Given the description of an element on the screen output the (x, y) to click on. 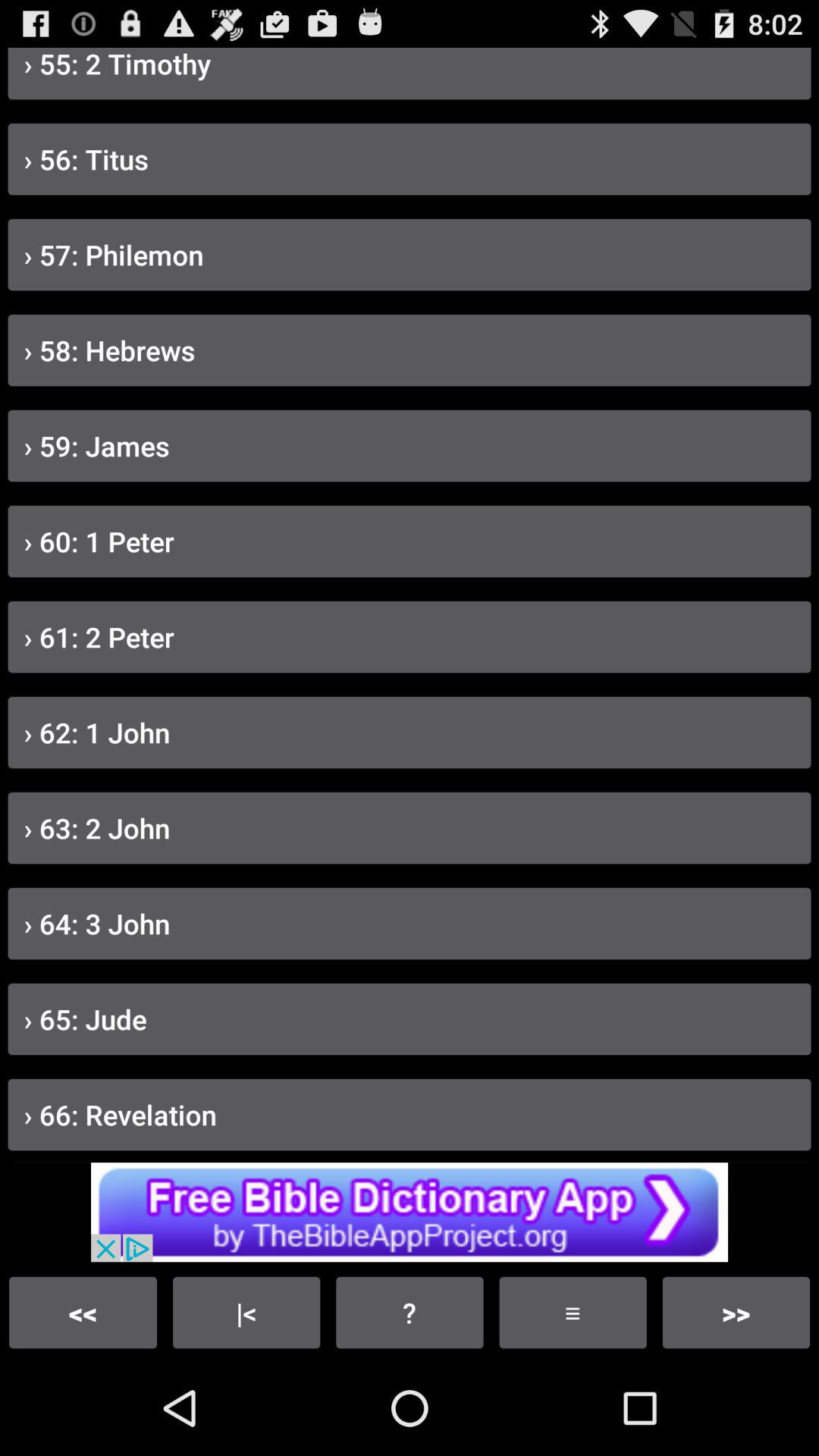
know about the advertisement (409, 1212)
